Given the description of an element on the screen output the (x, y) to click on. 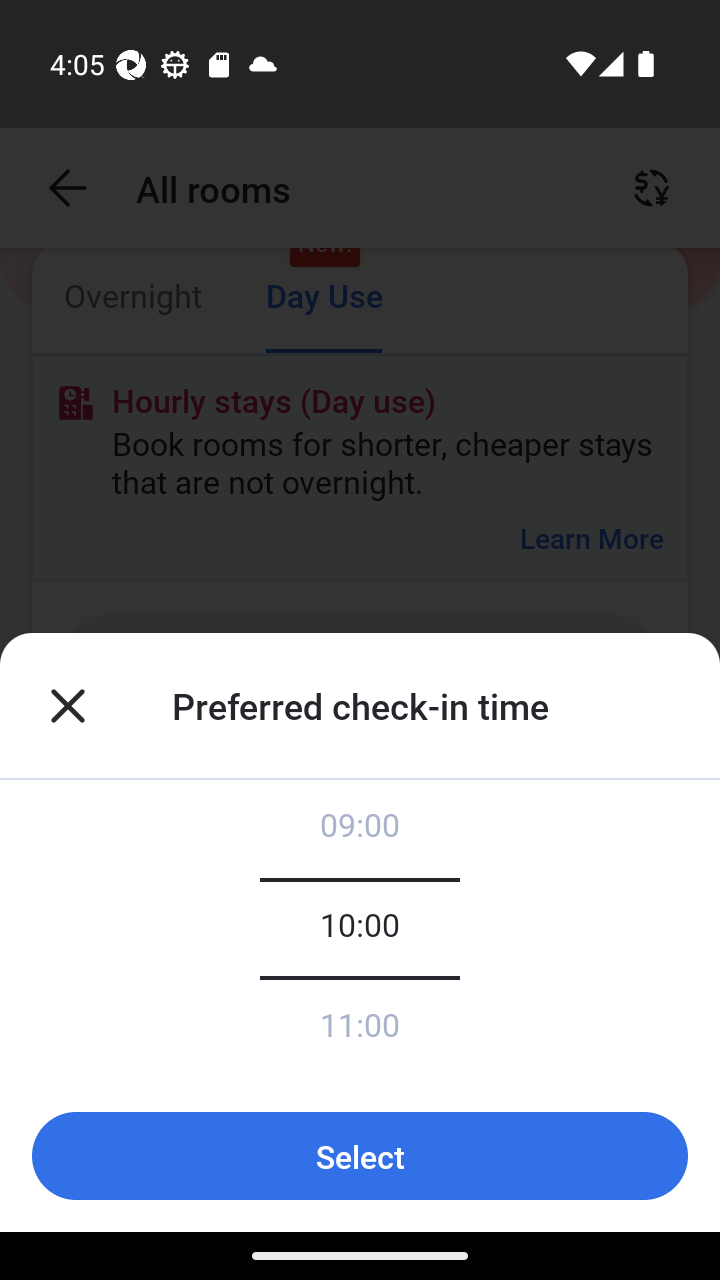
1 room 2 adults (359, 900)
Search (415, 1033)
Select (359, 1156)
